Given the description of an element on the screen output the (x, y) to click on. 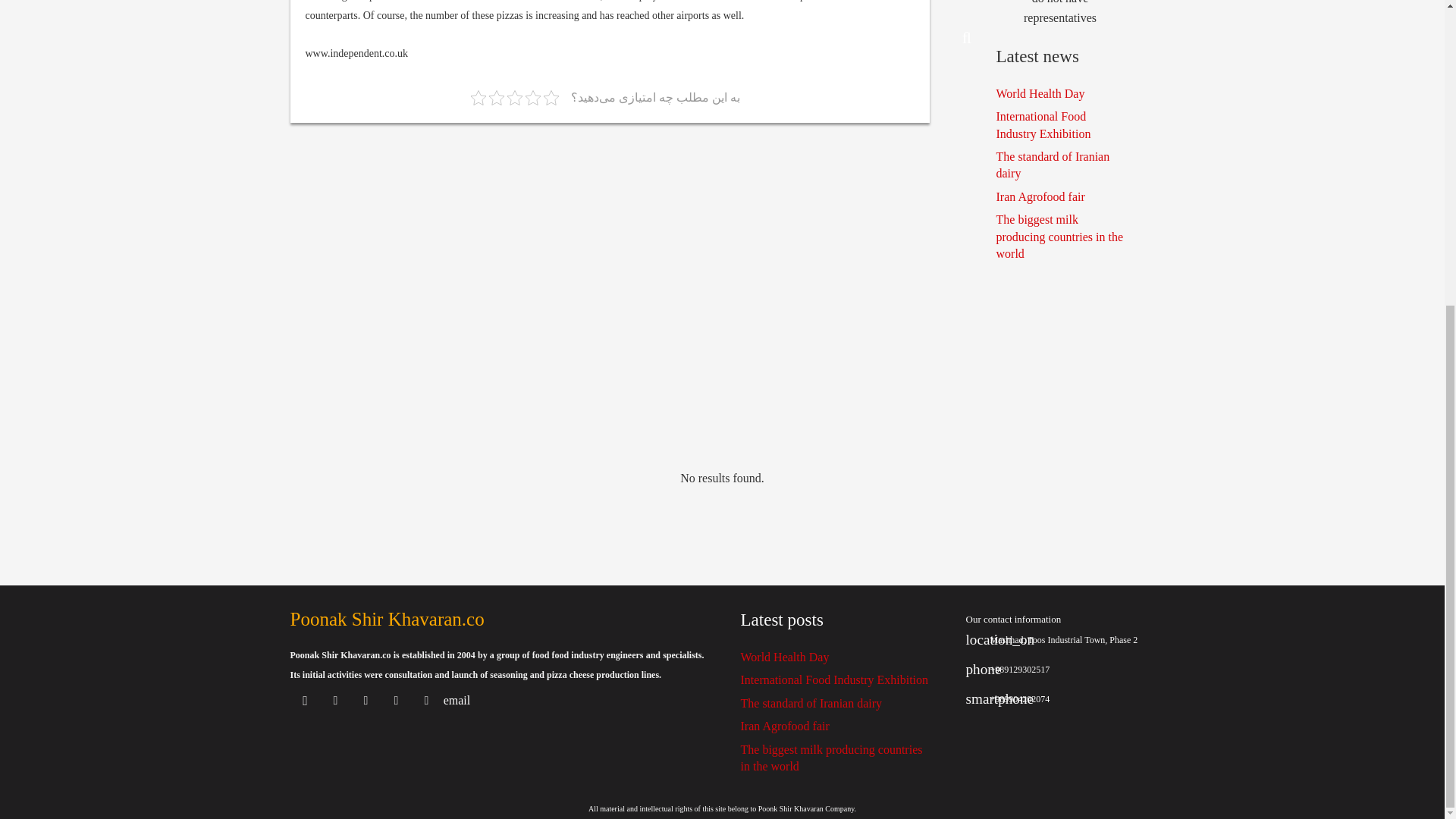
Iran Agrofood fair (783, 725)
World Health Day (1039, 92)
The standard of Iranian dairy (1052, 164)
LinkedIn (395, 700)
WhatsApp (425, 700)
The biggest milk producing countries in the world (1059, 236)
The biggest milk producing countries in the world (830, 757)
The standard of Iranian dairy (810, 703)
World Health Day (783, 656)
Email (456, 700)
Facebook (365, 700)
International Food Industry Exhibition (833, 679)
International Food Industry Exhibition (1042, 124)
Iran Agrofood fair (1039, 196)
